Given the description of an element on the screen output the (x, y) to click on. 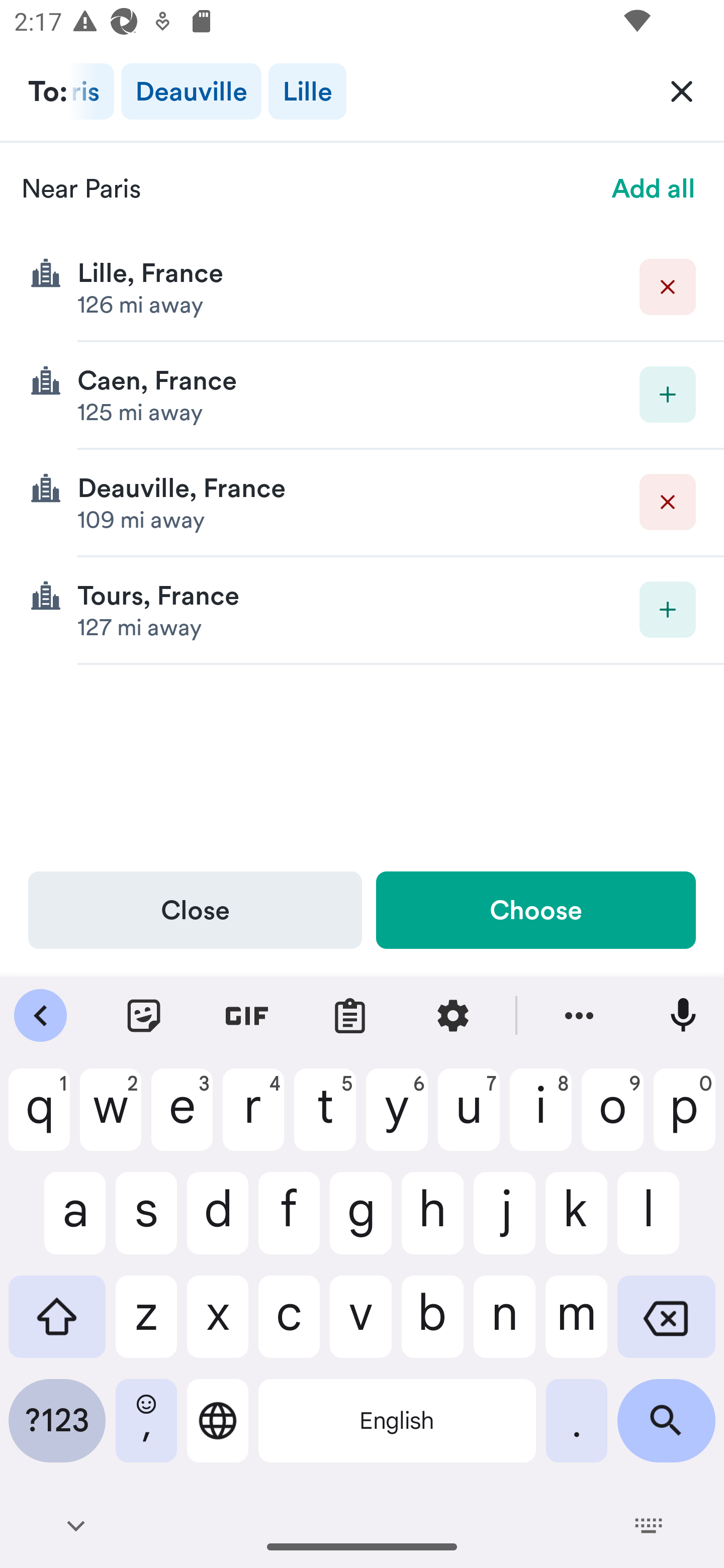
Clear All (681, 90)
Deauville (190, 91)
Lille (307, 91)
Add all (653, 187)
Delete Lille, France 126 mi away (362, 287)
Delete (667, 286)
Add destination Caen, France 125 mi away (362, 395)
Add destination (667, 394)
Delete Deauville, France 109 mi away (362, 503)
Delete (667, 501)
Add destination Tours, France 127 mi away (362, 610)
Add destination (667, 609)
Close (195, 909)
Choose (535, 909)
